Given the description of an element on the screen output the (x, y) to click on. 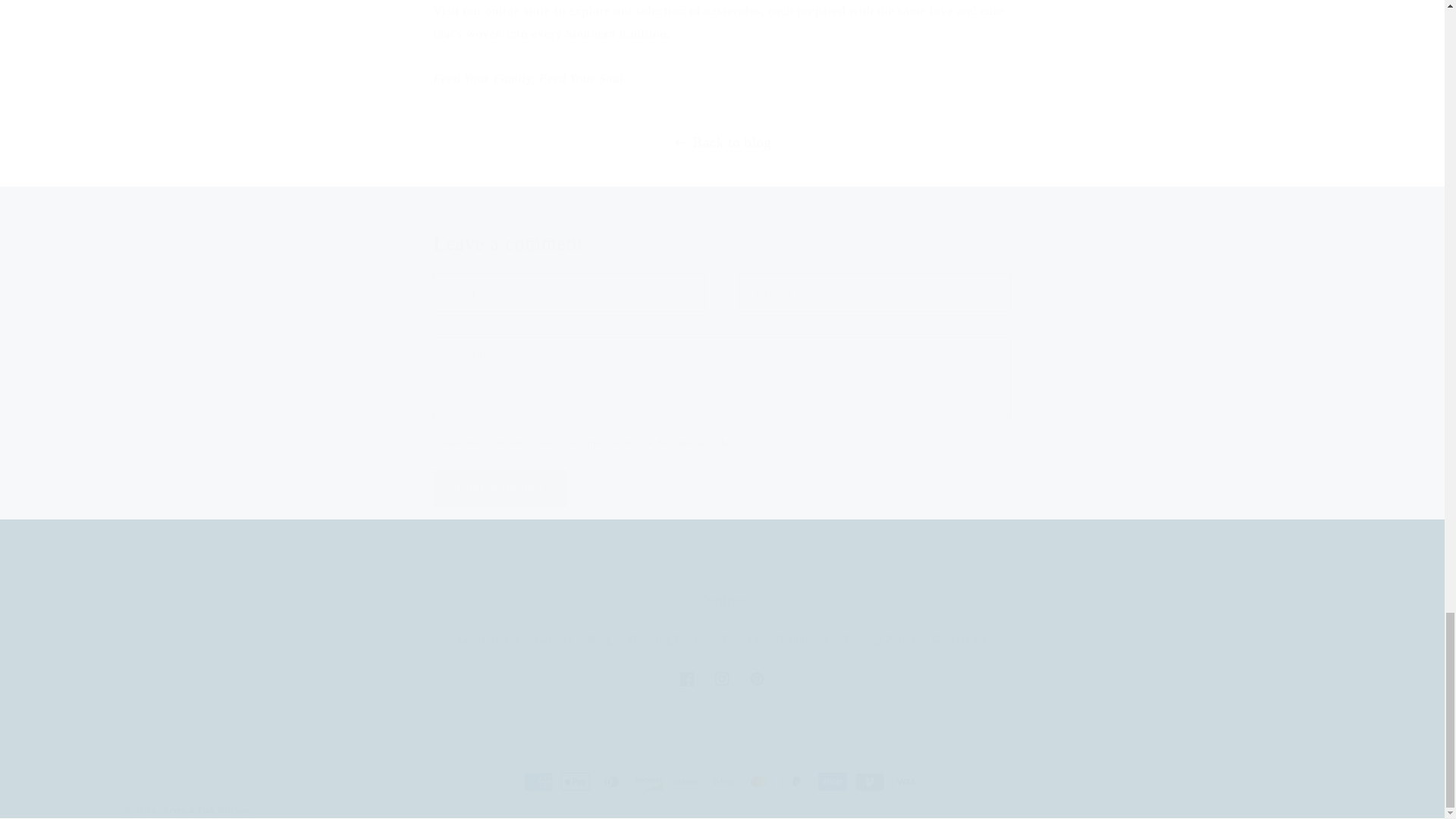
Post comment (722, 678)
